Given the description of an element on the screen output the (x, y) to click on. 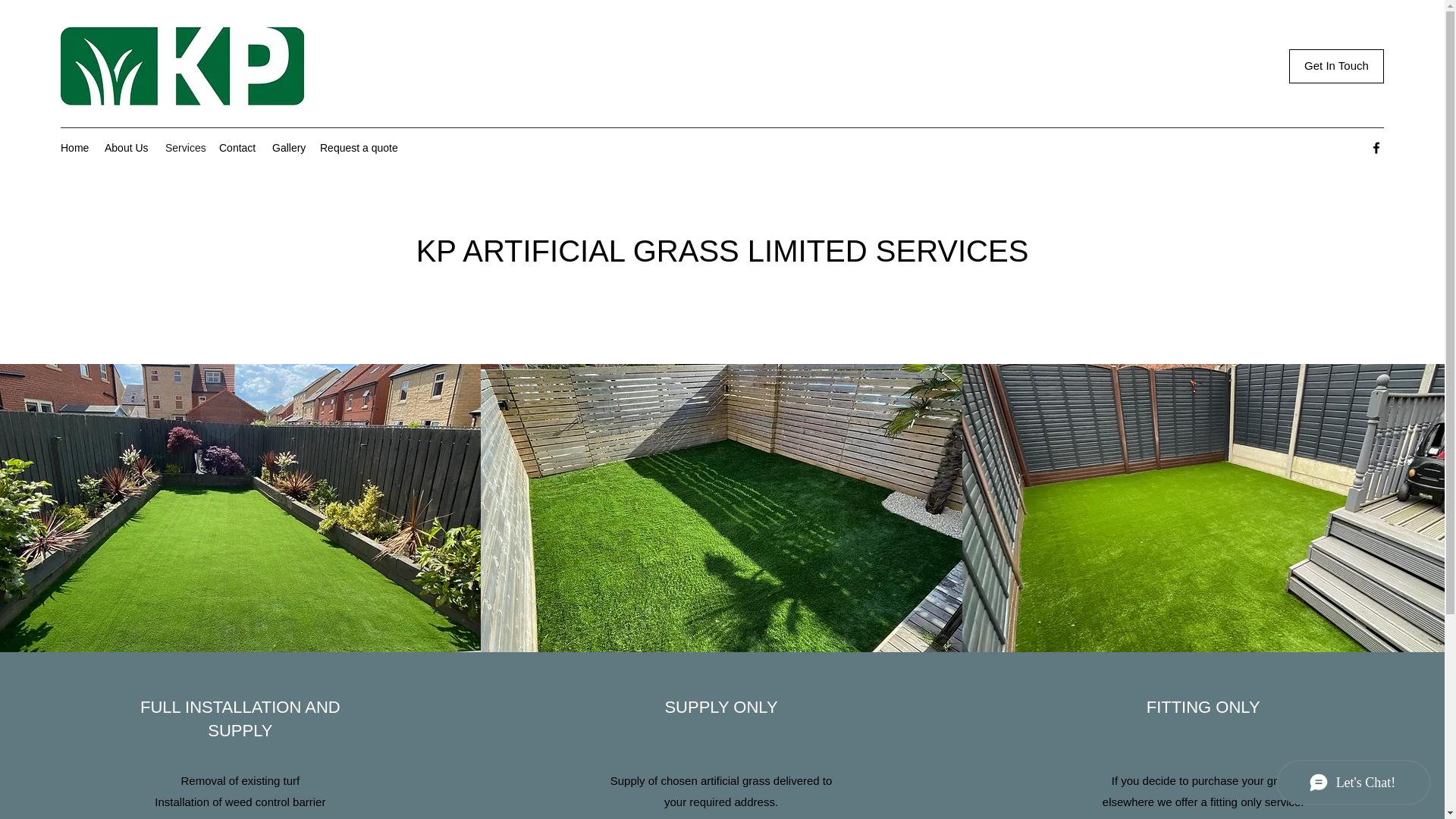
Request a quote (360, 147)
Home (74, 147)
Get In Touch (1336, 66)
Services (184, 147)
About Us (127, 147)
Gallery (288, 147)
Contact (237, 147)
